Given the description of an element on the screen output the (x, y) to click on. 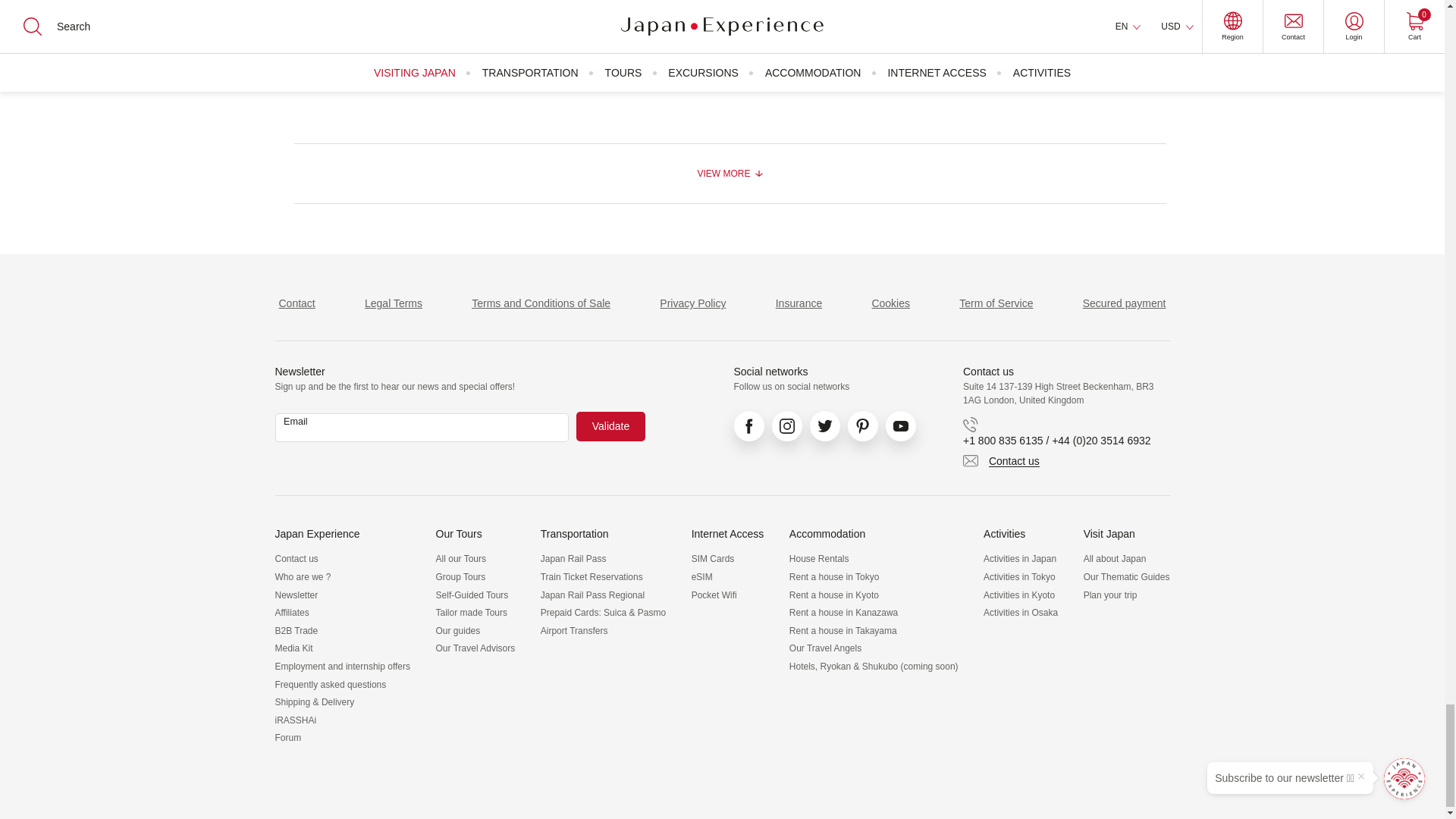
Validate (611, 426)
